Given the description of an element on the screen output the (x, y) to click on. 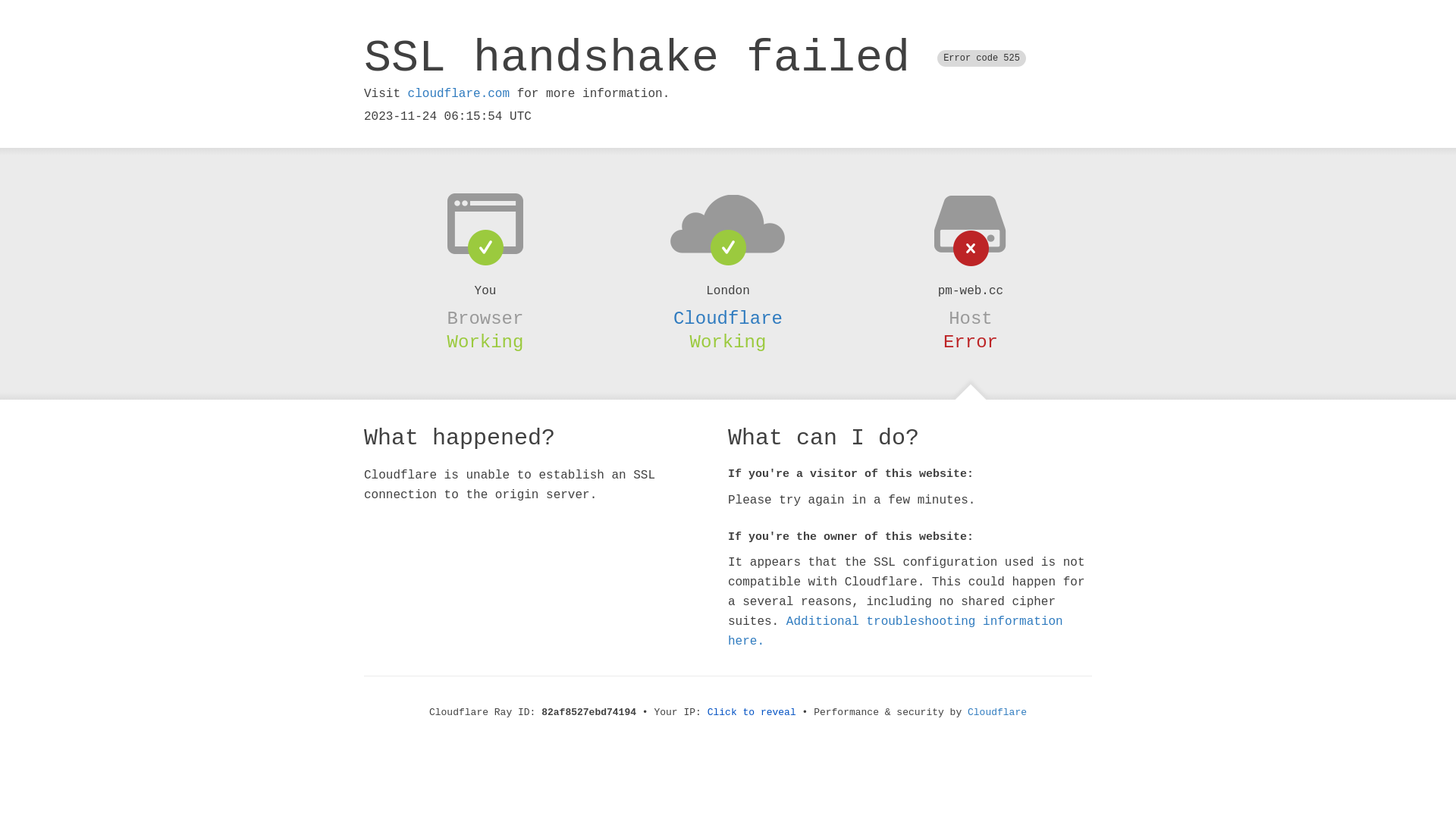
Additional troubleshooting information here. Element type: text (895, 631)
Click to reveal Element type: text (751, 712)
Cloudflare Element type: text (996, 712)
cloudflare.com Element type: text (458, 93)
Cloudflare Element type: text (727, 318)
